Given the description of an element on the screen output the (x, y) to click on. 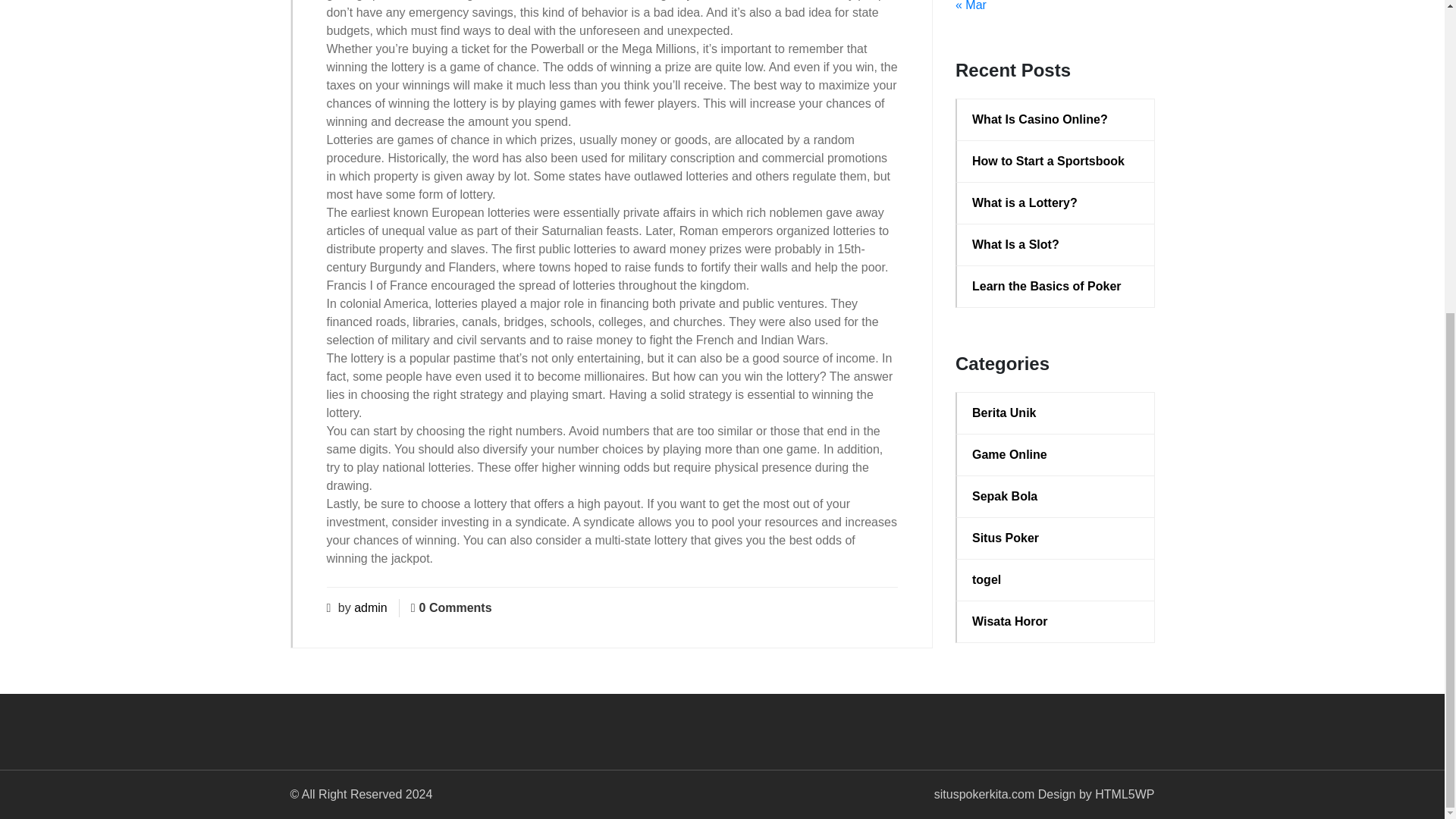
What is a Lottery? (1055, 203)
Situs Poker (1055, 538)
What Is Casino Online? (1055, 119)
How to Start a Sportsbook (1055, 161)
Wisata Horor (1055, 621)
Learn the Basics of Poker (1055, 286)
Game Online (1055, 454)
What Is a Slot? (1055, 244)
togel (1055, 579)
admin (370, 607)
Sepak Bola (1055, 496)
Berita Unik (1055, 413)
HTML5WP (1124, 793)
